Given the description of an element on the screen output the (x, y) to click on. 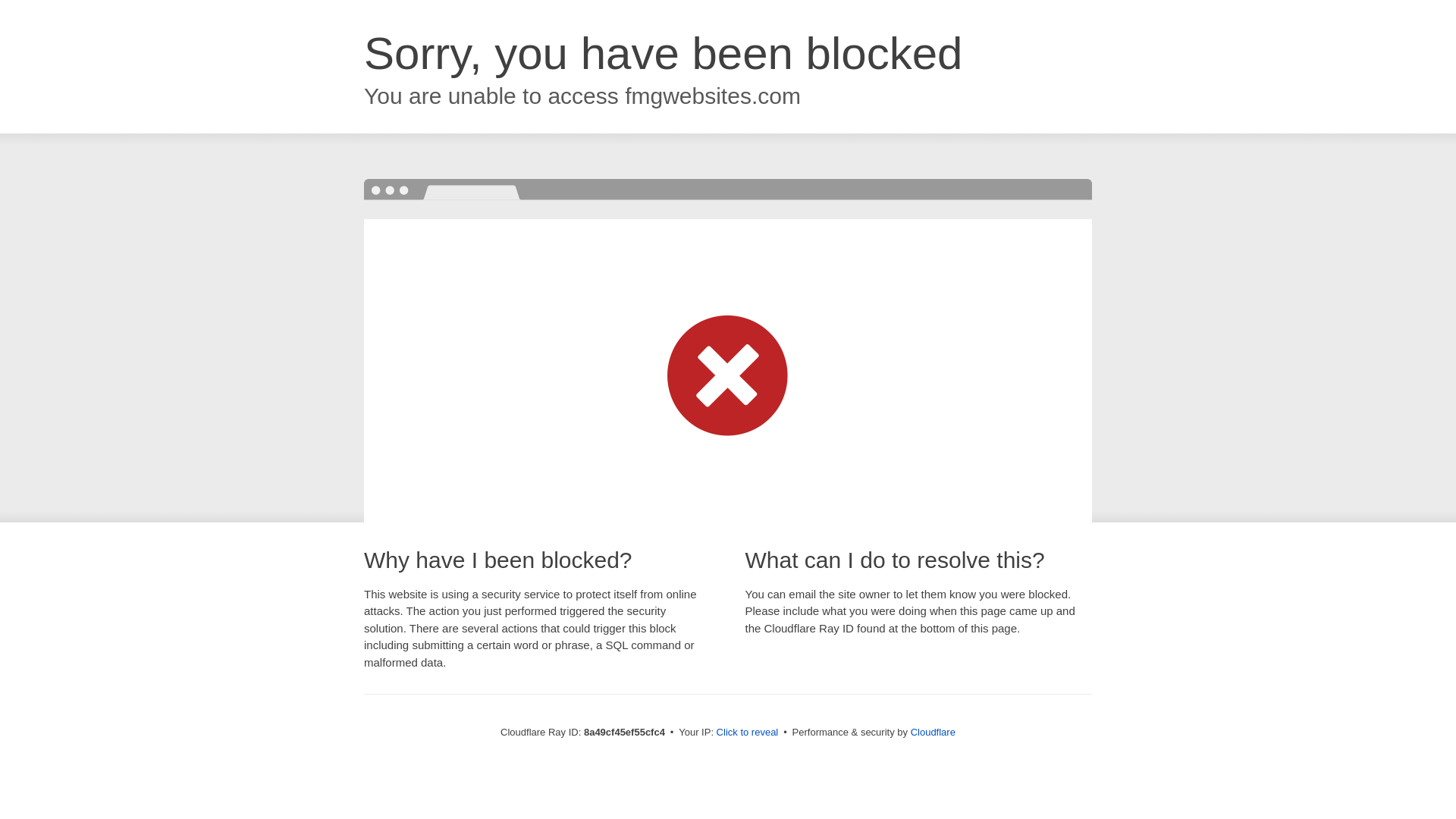
Cloudflare (933, 731)
Click to reveal (747, 732)
